Given the description of an element on the screen output the (x, y) to click on. 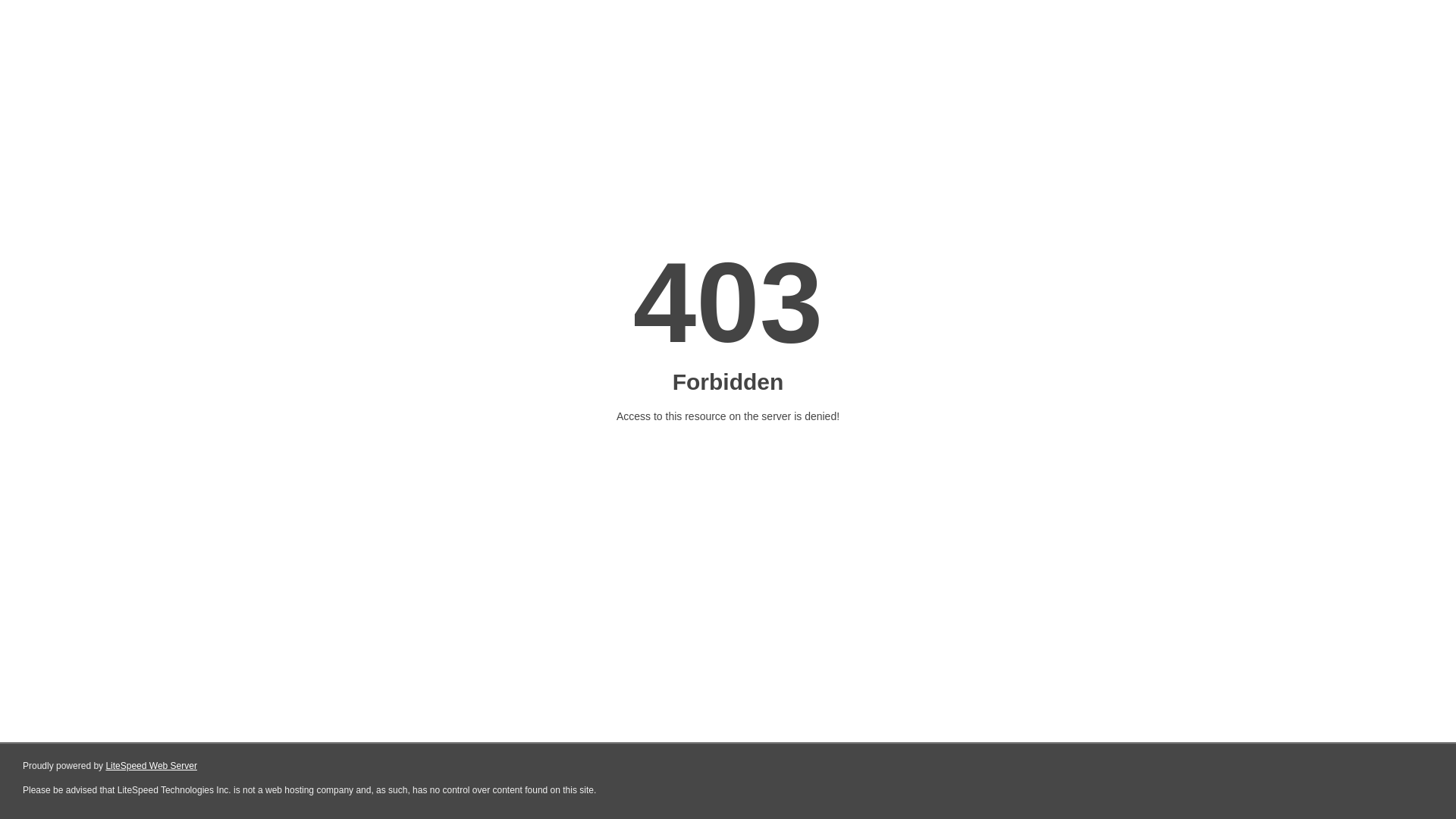
LiteSpeed Web Server Element type: text (151, 765)
